Given the description of an element on the screen output the (x, y) to click on. 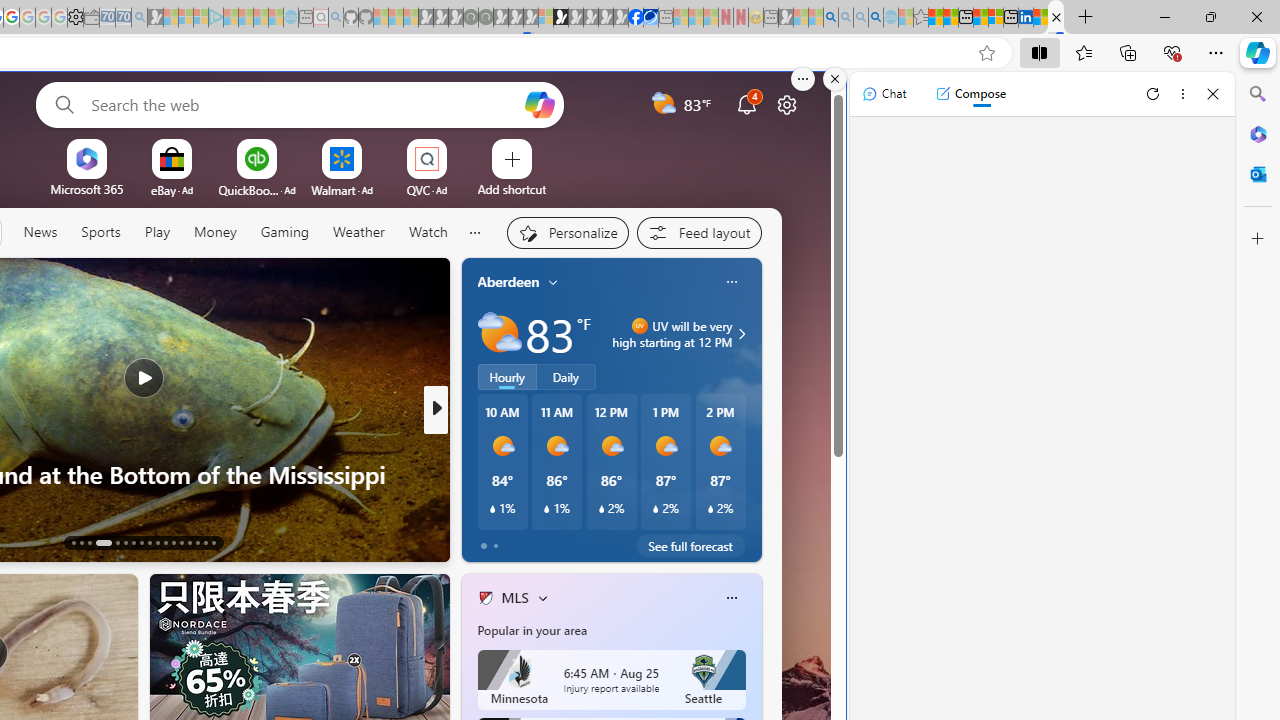
AutomationID: tab-15 (88, 542)
Close split screen. (835, 79)
AutomationID: tab-24 (172, 542)
AutomationID: tab-26 (189, 542)
Add a site (511, 188)
Favorites - Sleeping (920, 17)
Chat (884, 93)
